Given the description of an element on the screen output the (x, y) to click on. 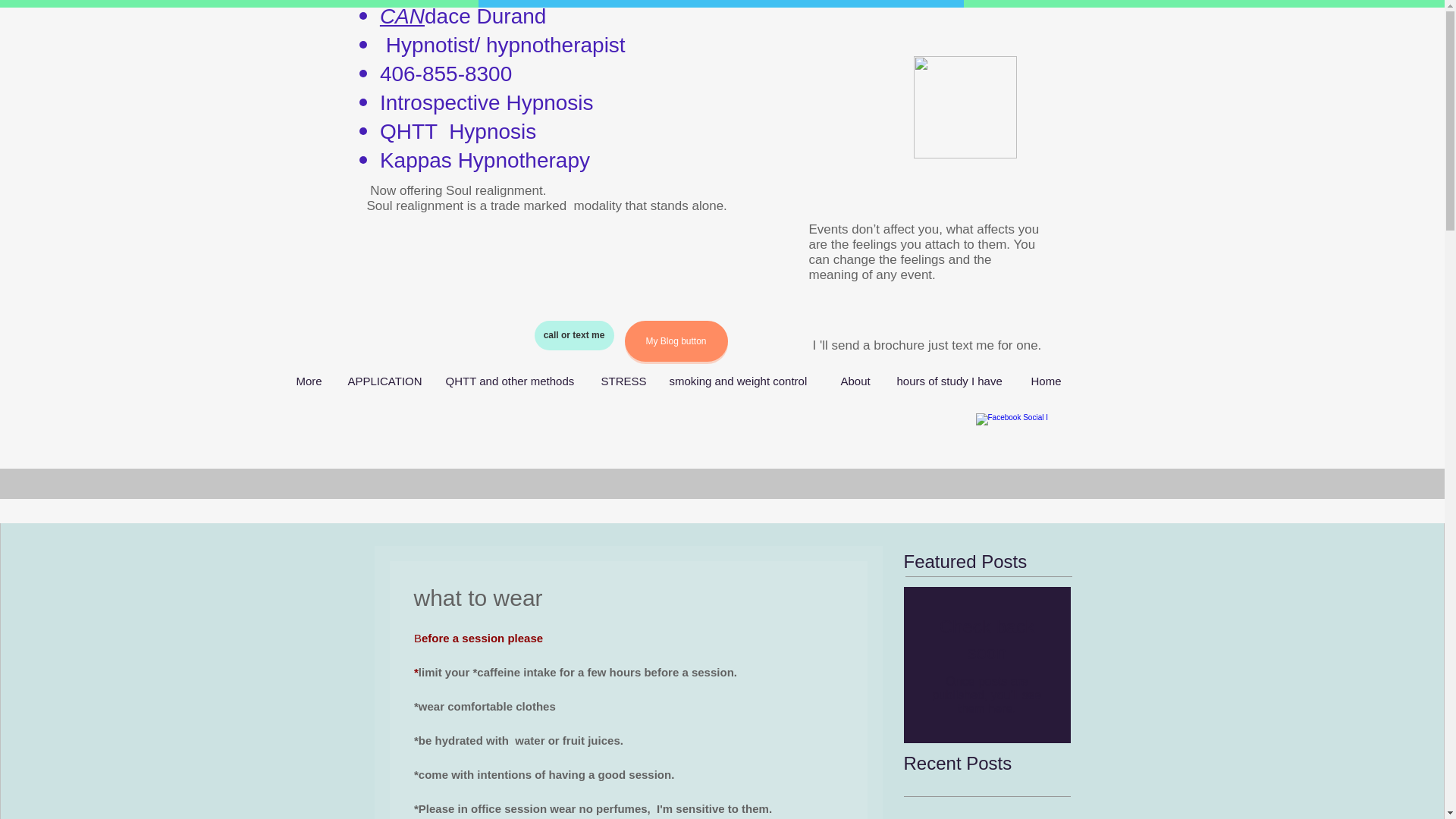
th.jpg (964, 107)
call or text me (573, 335)
My Blog button (676, 341)
CANdace Durand (463, 15)
406-855-8300  (449, 73)
Introspective Hypnosis (487, 102)
